Given the description of an element on the screen output the (x, y) to click on. 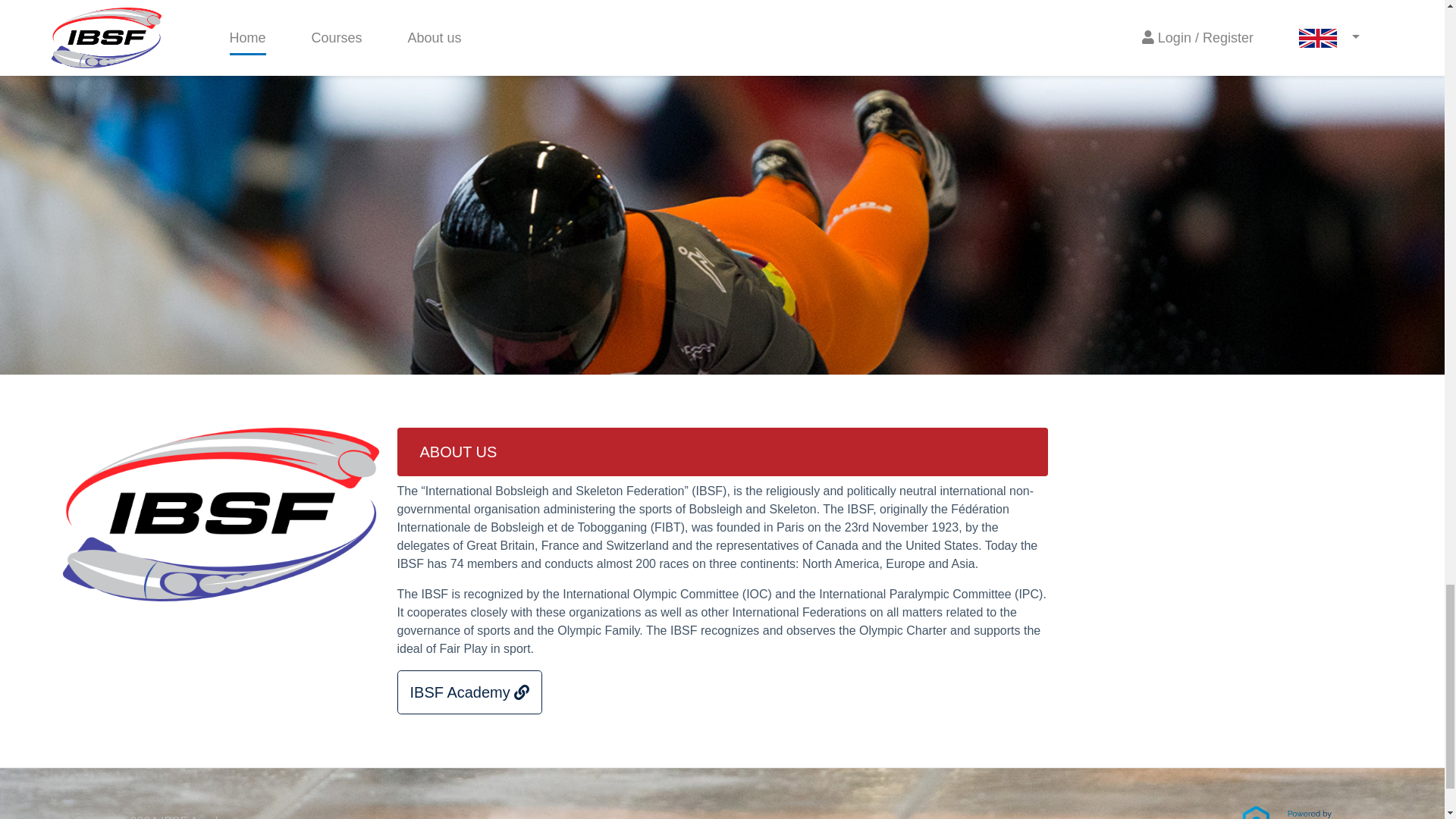
IBSF Academy (470, 692)
